Given the description of an element on the screen output the (x, y) to click on. 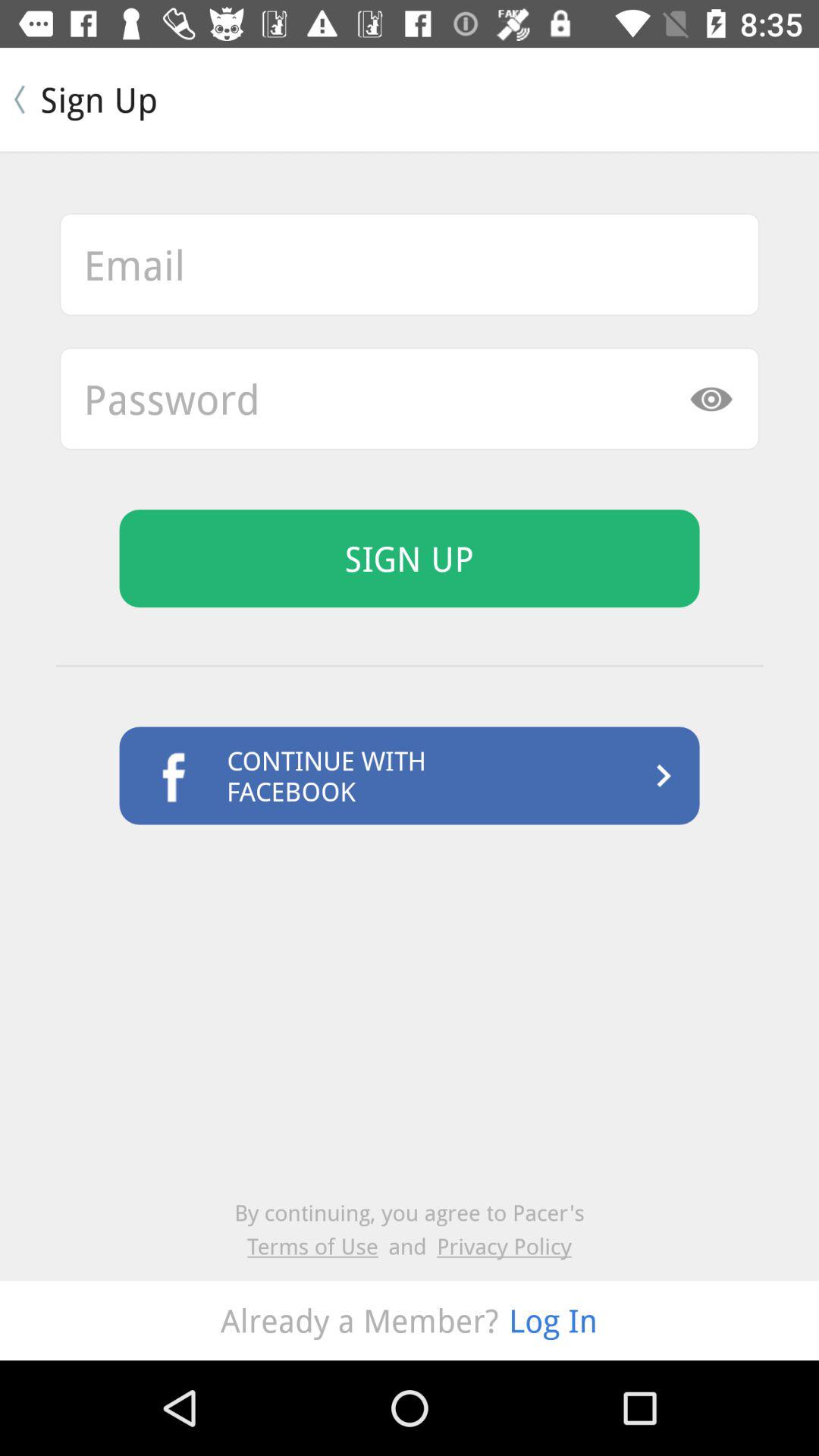
enter password (409, 398)
